Given the description of an element on the screen output the (x, y) to click on. 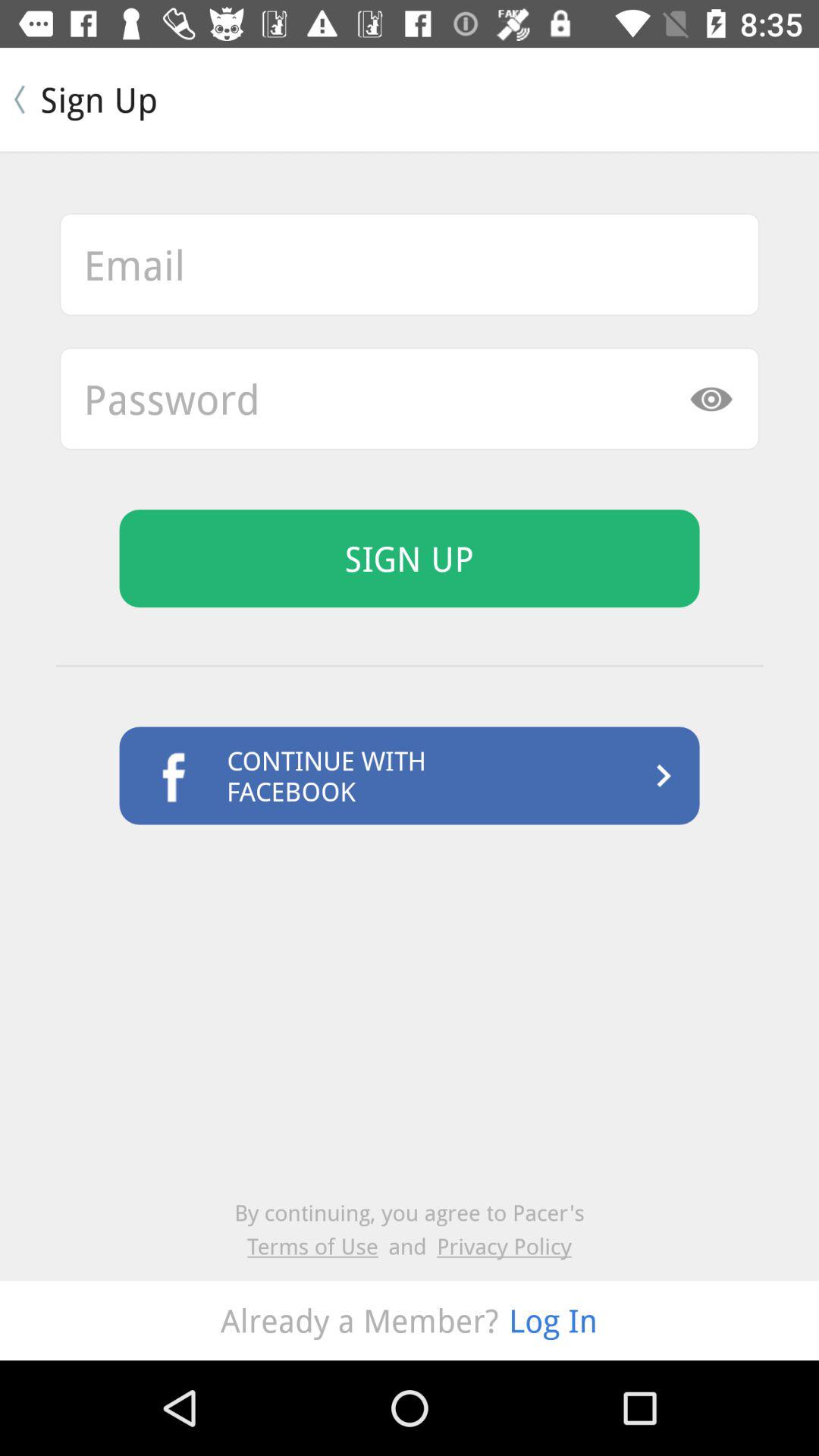
enter password (409, 398)
